Given the description of an element on the screen output the (x, y) to click on. 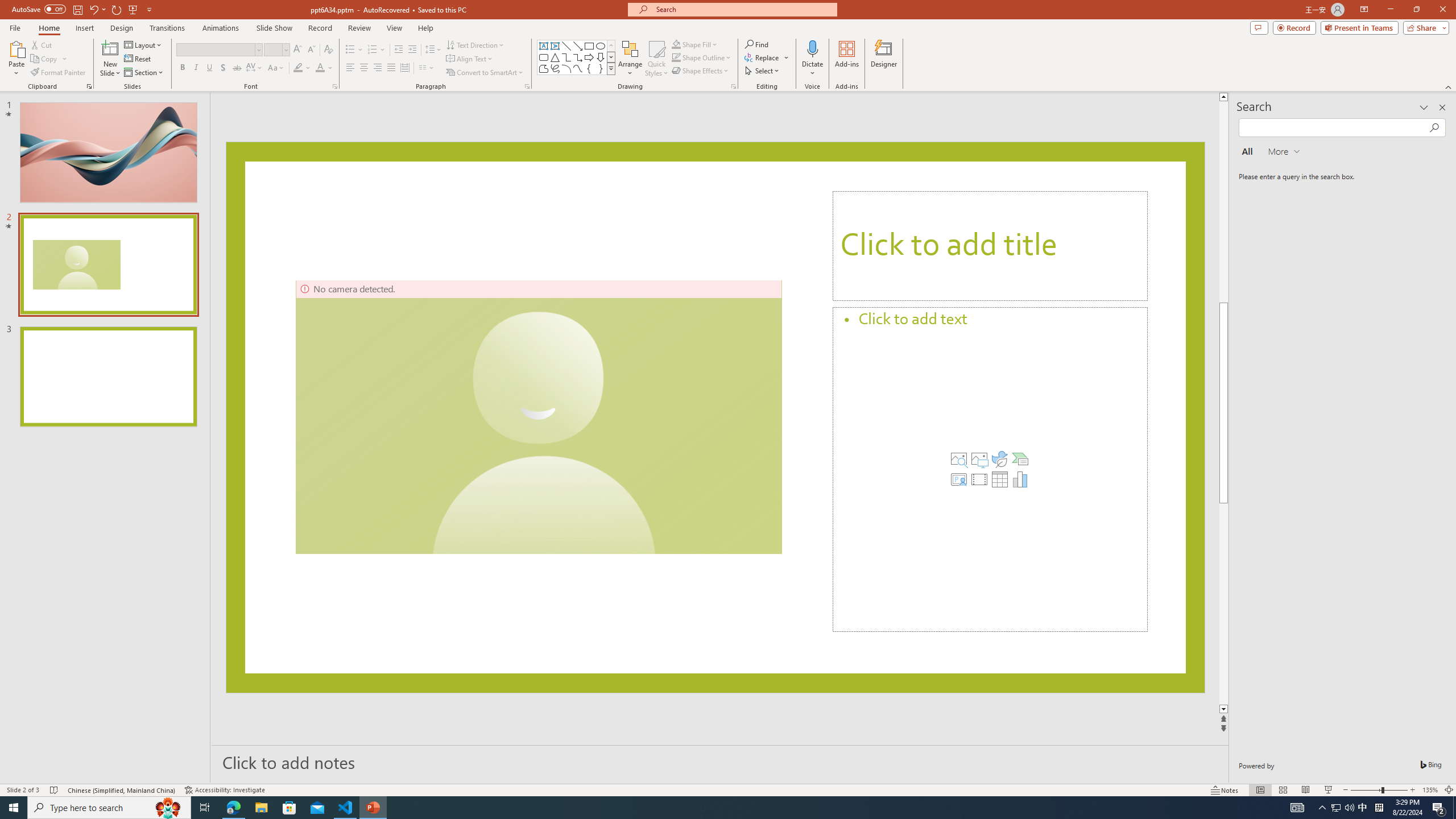
Right Brace (600, 68)
Align Right (377, 67)
Home (48, 28)
View (395, 28)
Class: MsoCommandBar (728, 789)
Close (1442, 9)
Freeform: Scribble (554, 68)
Freeform: Shape (543, 68)
Zoom 135% (1430, 790)
Shape Effects (700, 69)
Slide Notes (720, 761)
Strikethrough (237, 67)
Shape Outline (675, 56)
Page down (1225, 604)
